Given the description of an element on the screen output the (x, y) to click on. 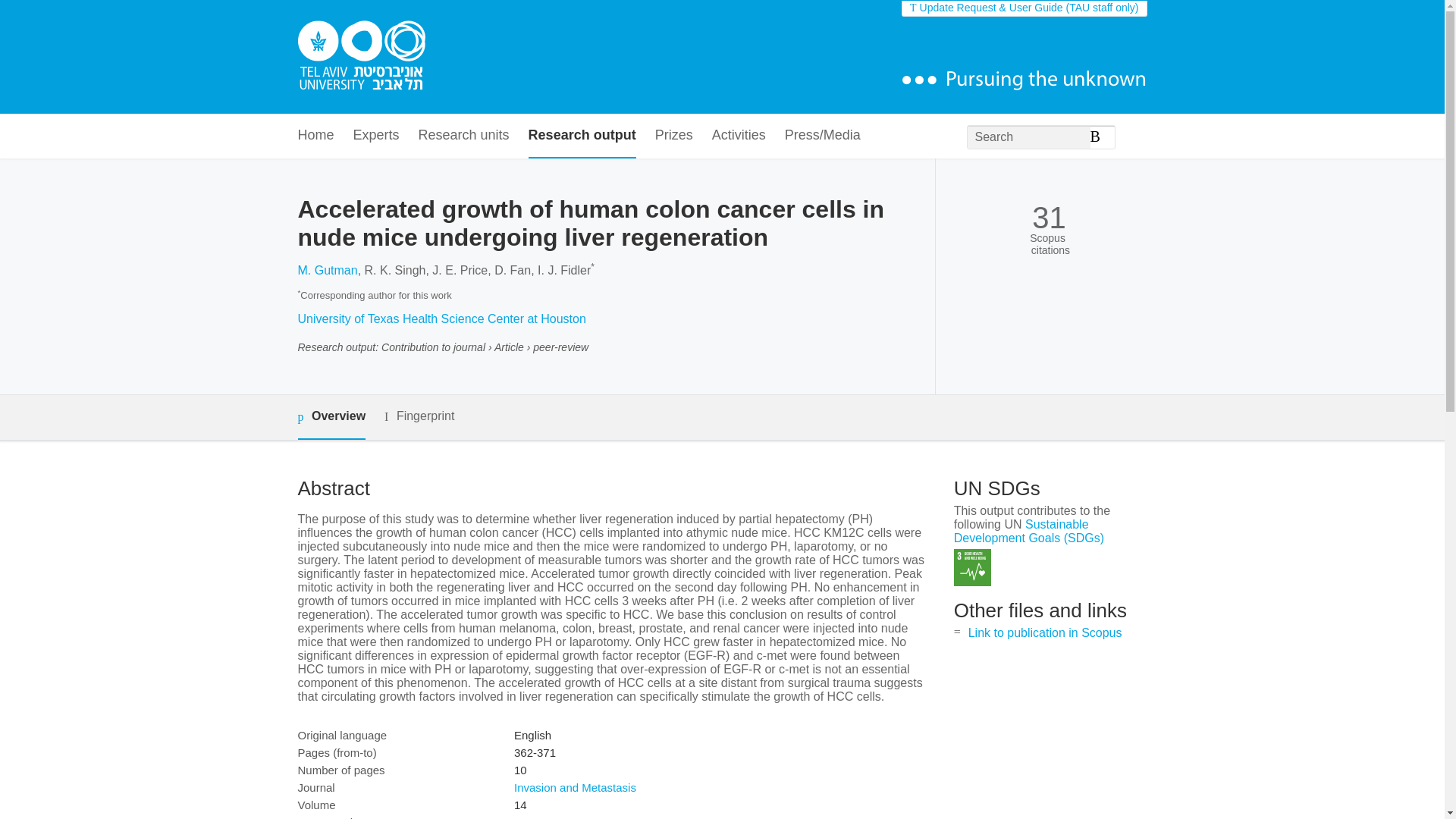
Experts (375, 135)
Home (315, 135)
Invasion and Metastasis (574, 787)
Prizes (674, 135)
Activities (738, 135)
M. Gutman (326, 269)
Overview (331, 416)
Link to publication in Scopus (1045, 632)
Tel Aviv University Home (361, 56)
Research units (464, 135)
Fingerprint (419, 416)
University of Texas Health Science Center at Houston (441, 318)
Research output (582, 135)
SDG 3 - Good Health and Well-being (972, 567)
